Given the description of an element on the screen output the (x, y) to click on. 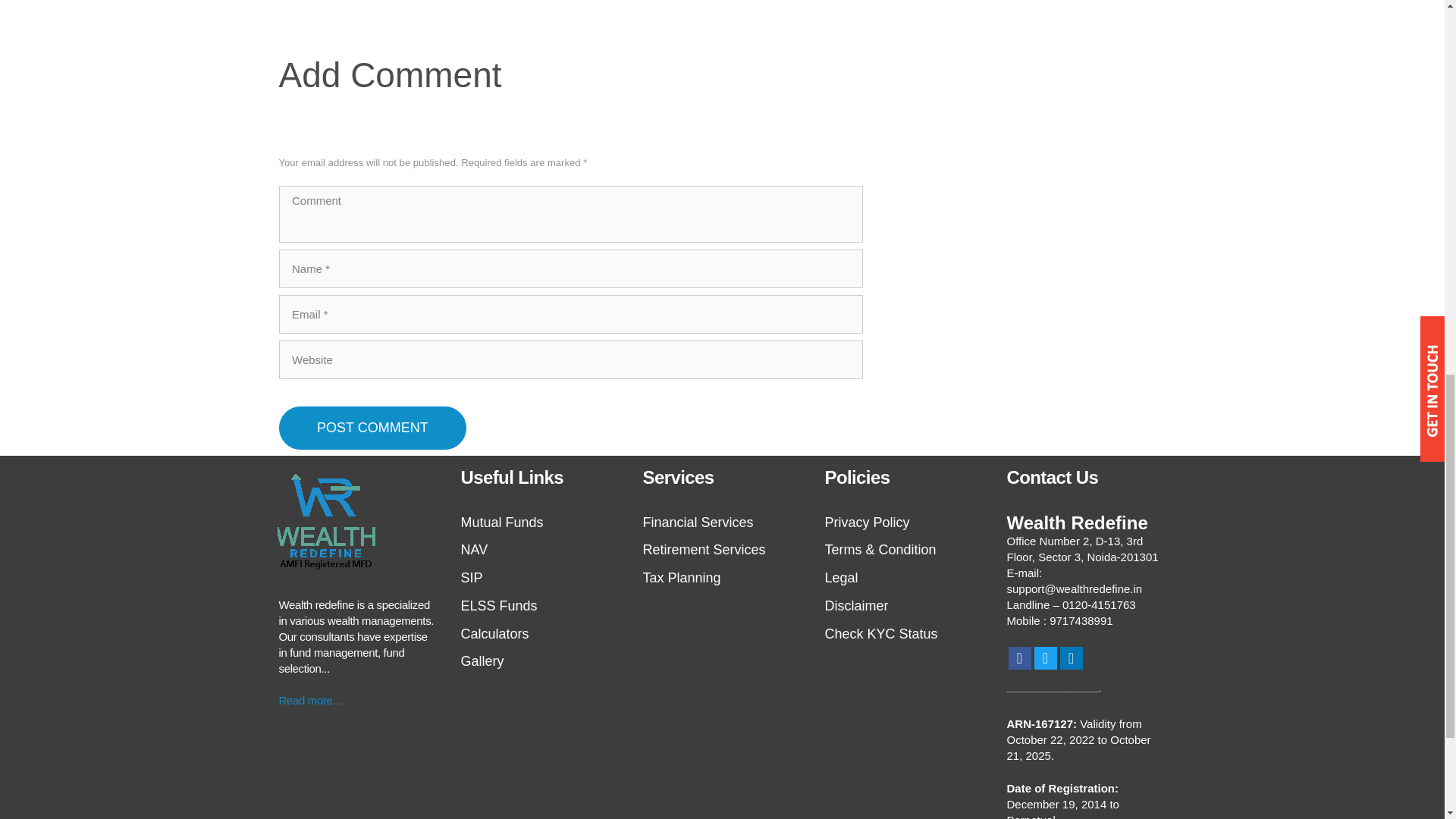
Post Comment (373, 428)
Twitter (1045, 658)
LinkedIn (1071, 658)
Facebook (1019, 658)
